Given the description of an element on the screen output the (x, y) to click on. 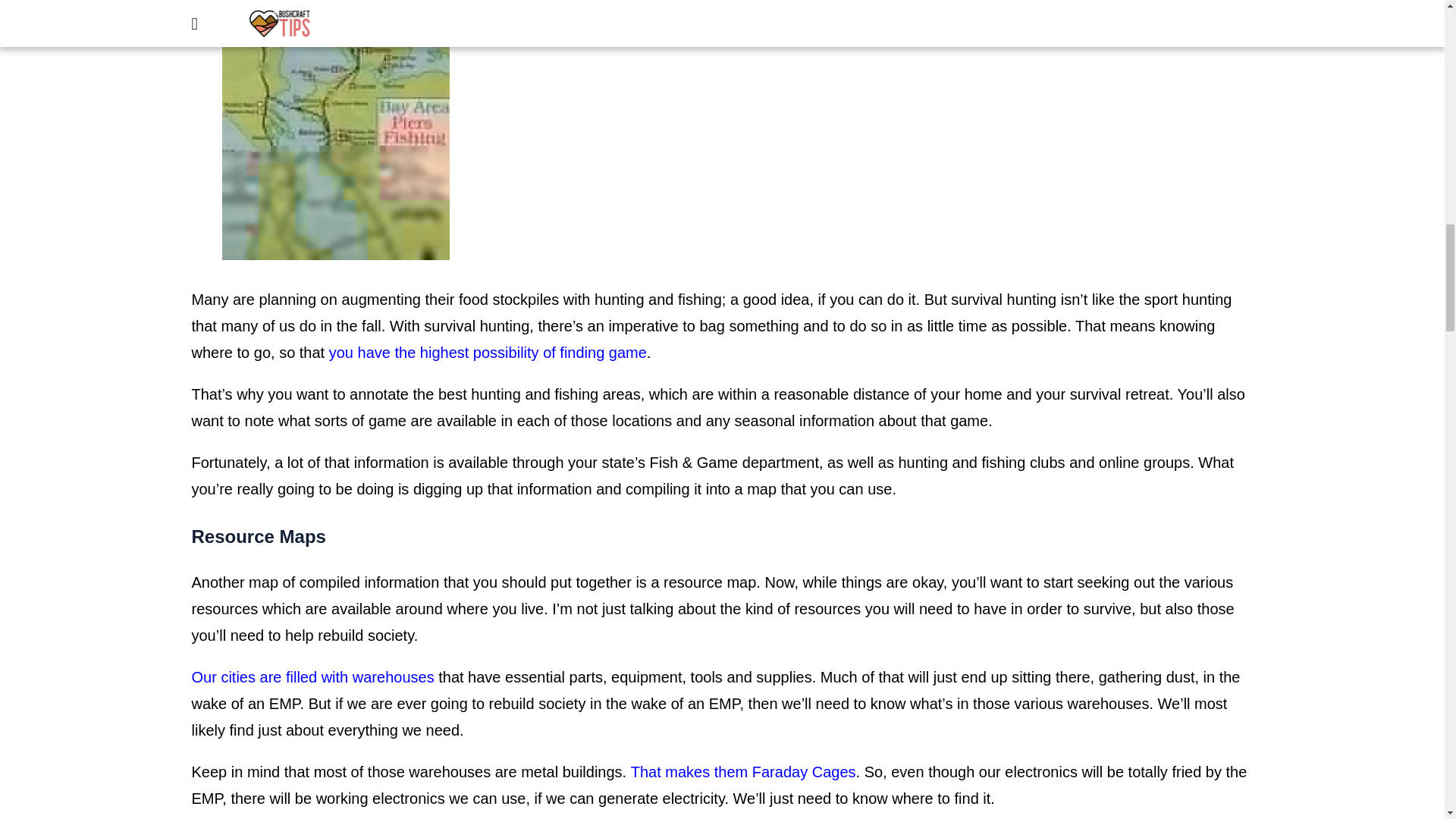
Our cities are filled with warehouses (311, 677)
you have the highest possibility of finding game (487, 352)
That makes them Faraday Cages (743, 771)
